Given the description of an element on the screen output the (x, y) to click on. 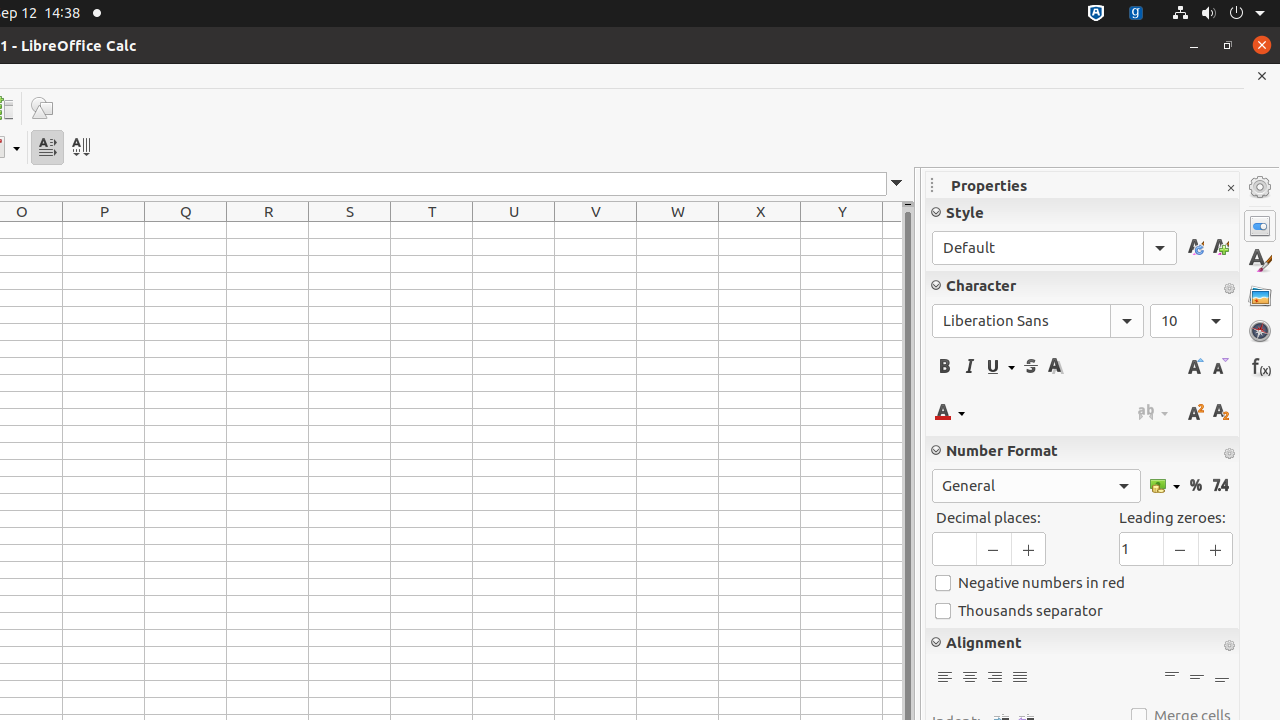
Draw Functions Element type: toggle-button (41, 108)
Justified Element type: toggle-button (1019, 677)
Gallery Element type: radio-button (1260, 296)
Properties Element type: radio-button (1260, 226)
Shadow Element type: toggle-button (1055, 366)
